Given the description of an element on the screen output the (x, y) to click on. 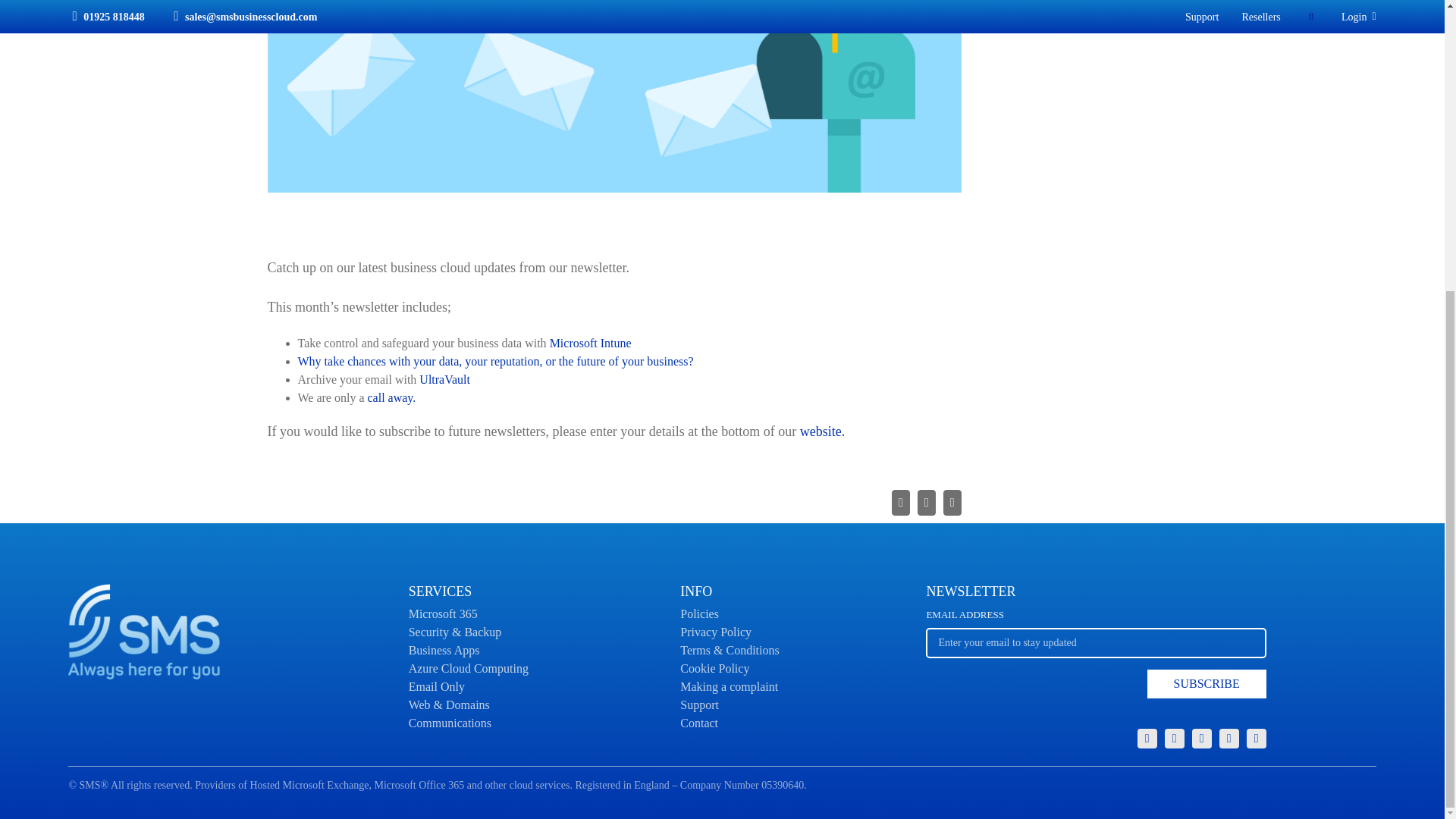
Group-2434 - SMS (1095, 658)
